Given the description of an element on the screen output the (x, y) to click on. 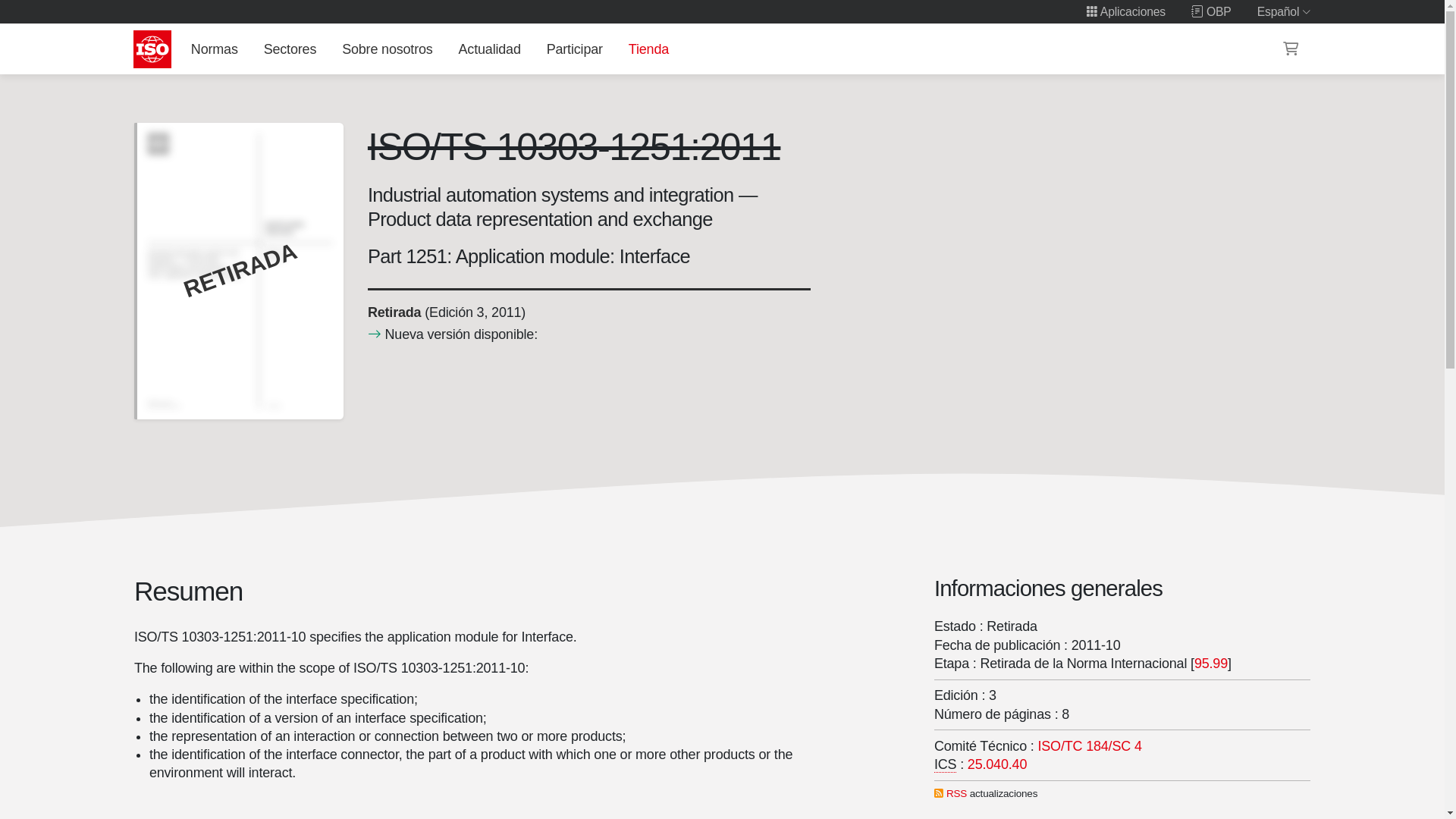
Sobre nosotros (387, 48)
Ciclo de vida (393, 312)
Participar (574, 48)
Retirada (393, 312)
Industrial data (1089, 745)
Normas (214, 48)
Sectores (290, 48)
95.99 (1210, 663)
 OBP (1211, 11)
25.040.40 (997, 764)
Portal de aplicaciones de ISO (1126, 11)
